Given the description of an element on the screen output the (x, y) to click on. 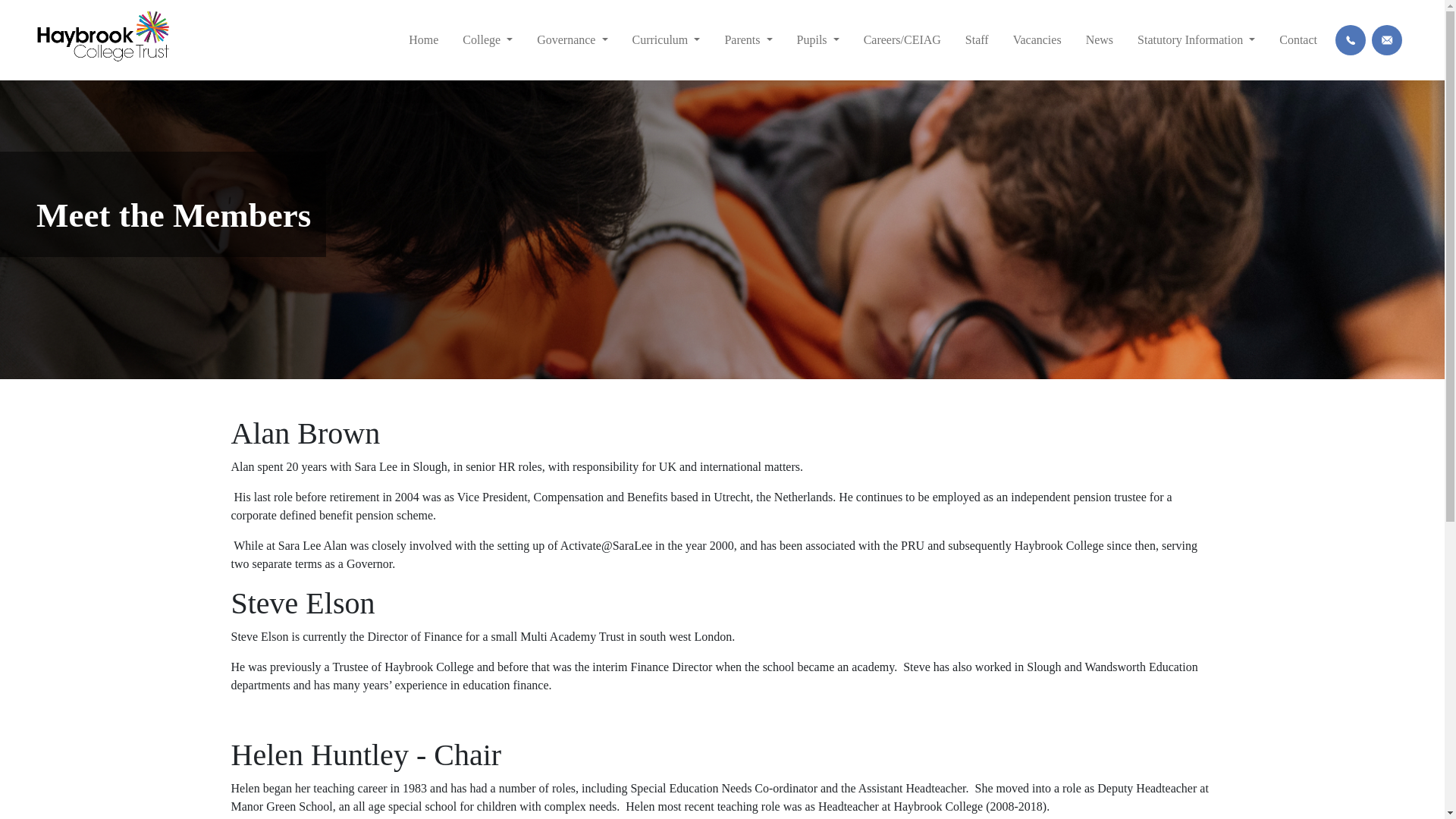
Parents (747, 40)
Governance (571, 40)
Home (423, 40)
College (487, 40)
Pupils (817, 40)
Curriculum (666, 40)
